Given the description of an element on the screen output the (x, y) to click on. 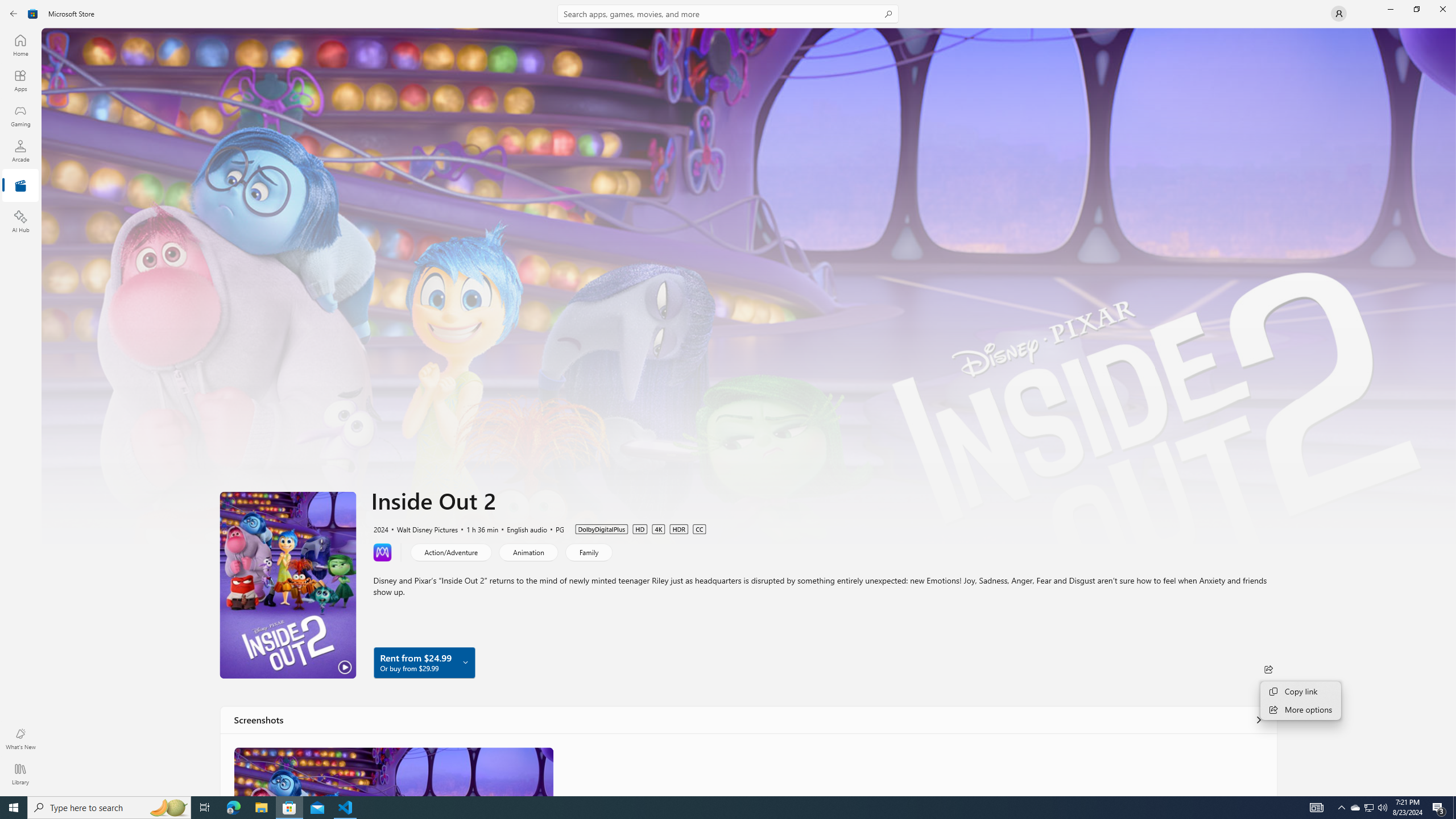
Family (587, 551)
Action/Adventure (451, 551)
Arcade (20, 150)
2024 (379, 528)
PG (554, 528)
What's New (20, 738)
See all (1258, 719)
AutomationID: NavigationControl (728, 398)
Search (727, 13)
Minimize Microsoft Store (1390, 9)
User profile (1338, 13)
Entertainment (20, 185)
Library (20, 773)
Play Trailer (287, 584)
